Given the description of an element on the screen output the (x, y) to click on. 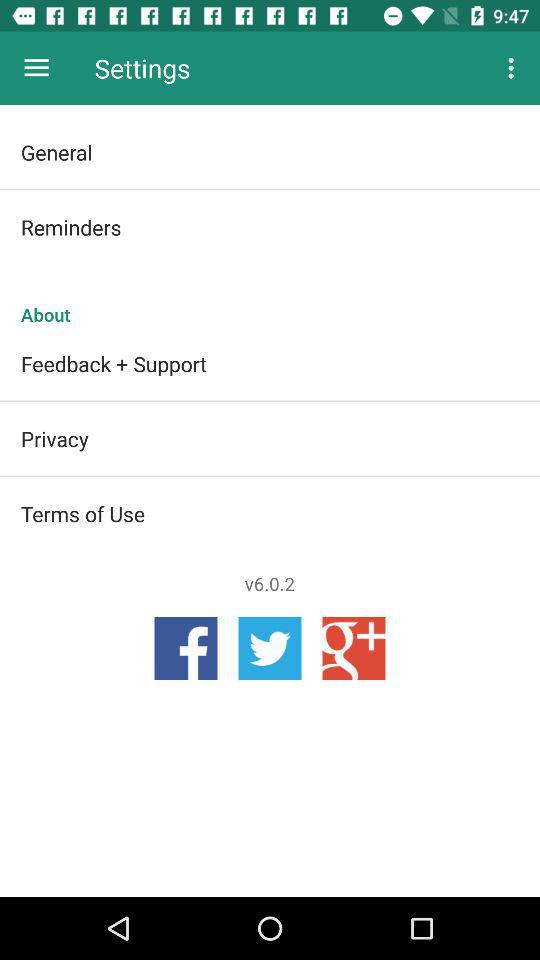
tap feedback + support (270, 363)
